Given the description of an element on the screen output the (x, y) to click on. 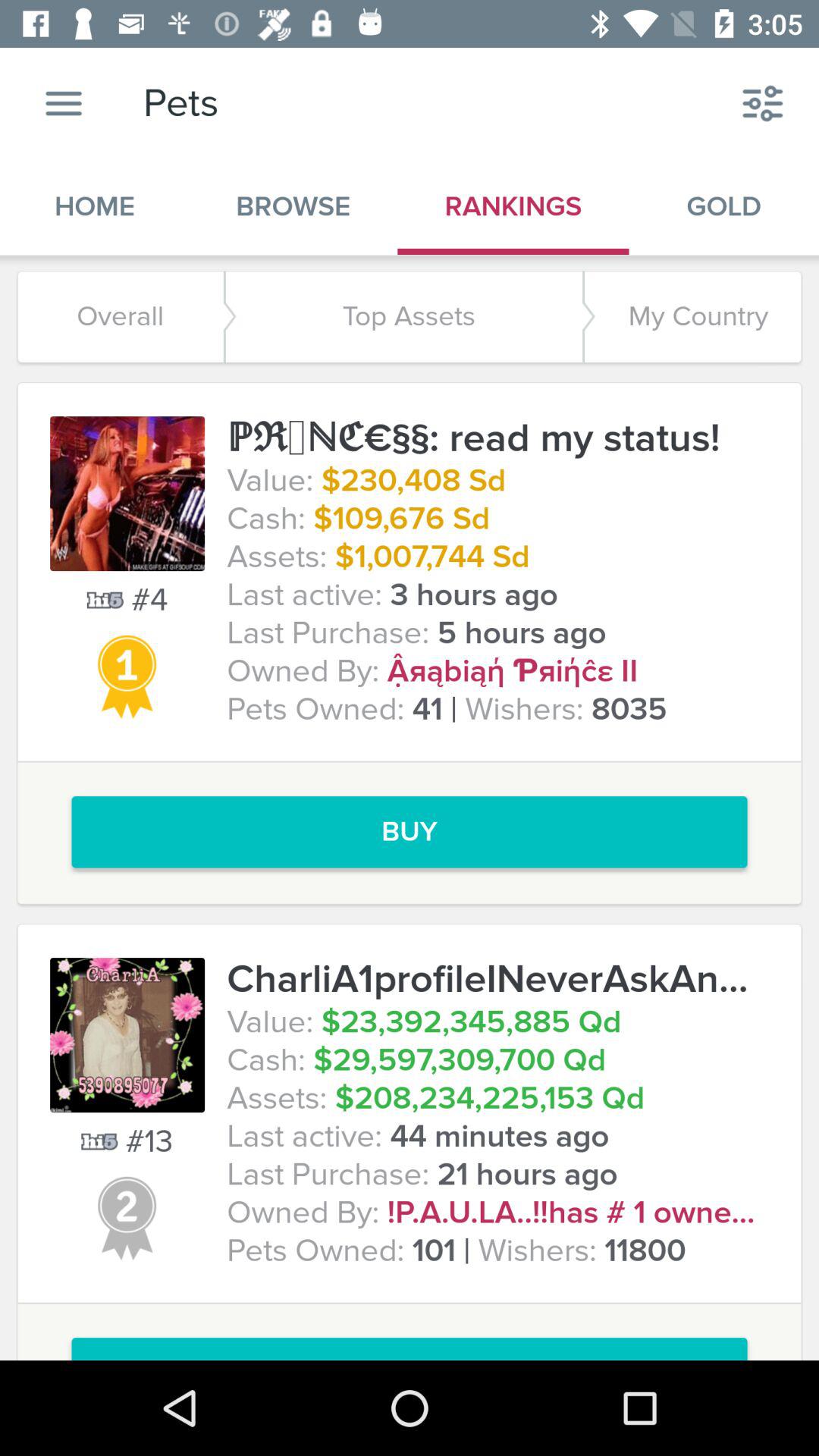
options menu button (63, 103)
